Given the description of an element on the screen output the (x, y) to click on. 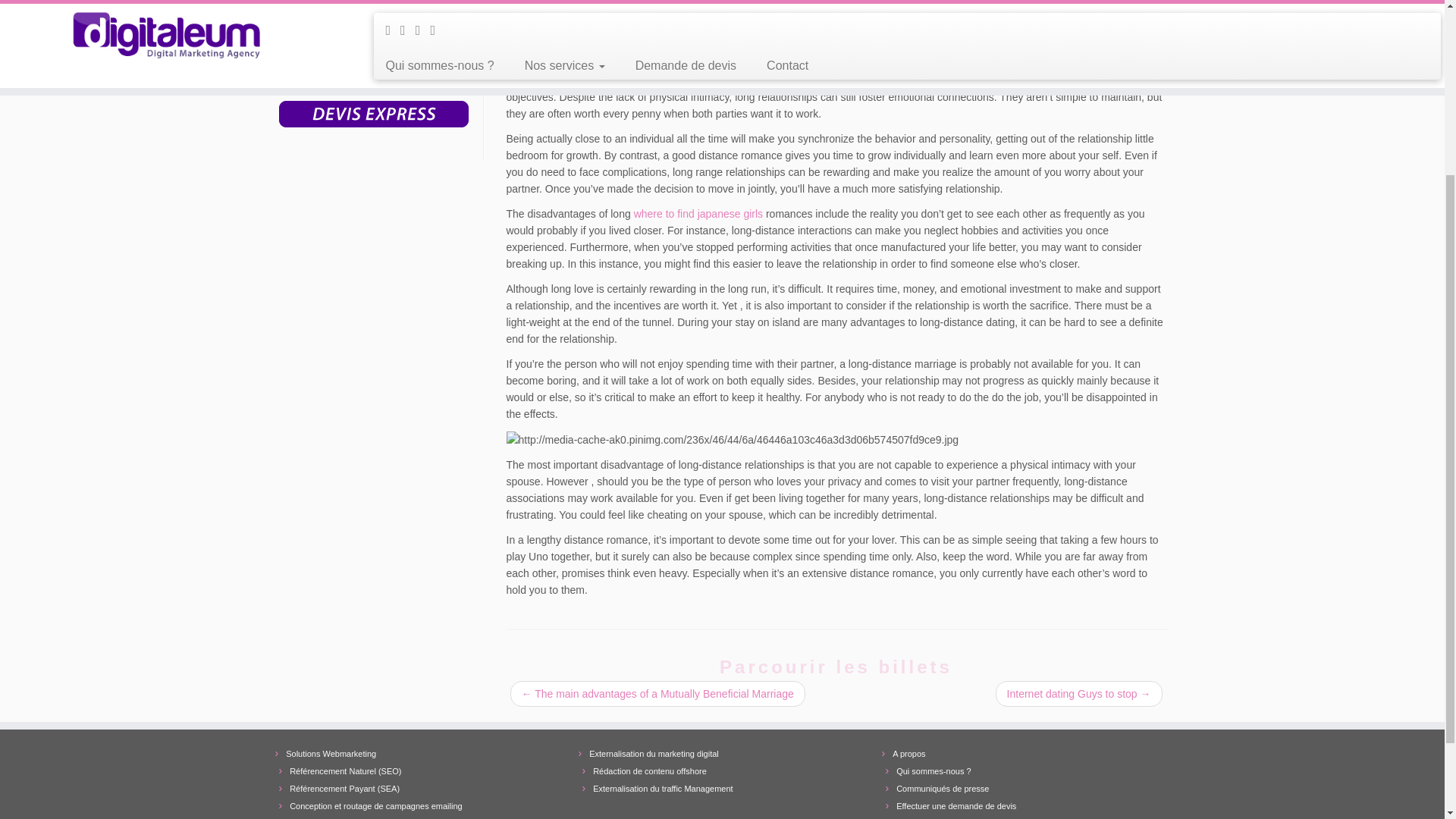
Voir tous les billets de digitaleum (740, 1)
A propos (908, 753)
4 octobre 2021 (671, 1)
1 h 00 min (671, 1)
Externalisation du marketing digital (654, 753)
digitaleum (740, 1)
where to find japanese girls (697, 214)
Effectuer une demande de devis (956, 805)
Externalisation du traffic Management (662, 788)
Solutions Webmarketing (330, 753)
Qui sommes-nous ? (933, 770)
Conception et routage de campagnes emailing (375, 805)
